Given the description of an element on the screen output the (x, y) to click on. 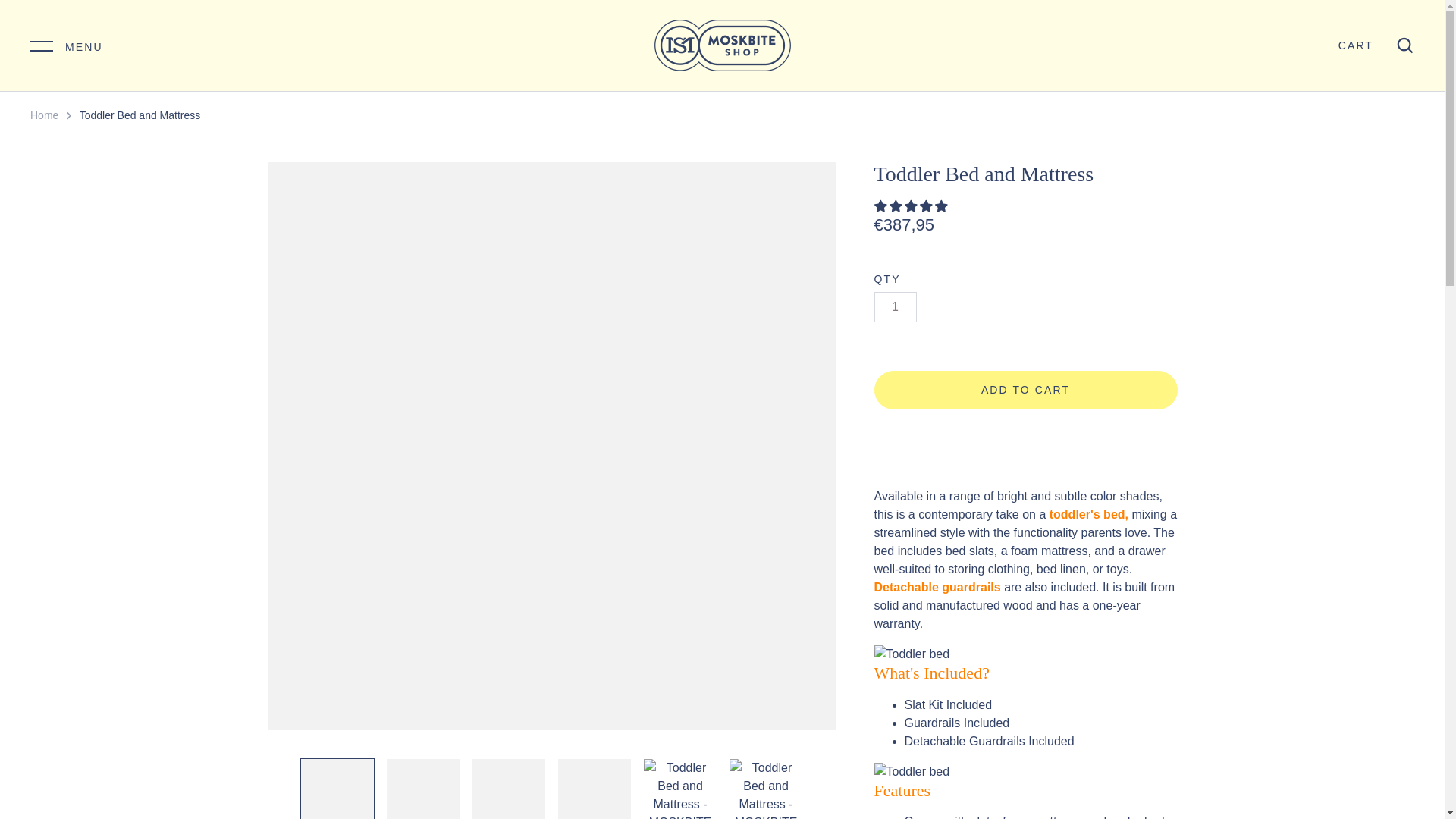
SEARCH (1404, 45)
Home (44, 114)
SEARCH (1404, 45)
Toddler Bed and Mattress - MOSKBITE (509, 788)
1 (894, 306)
CART (1355, 45)
Toddler Bed and Mattress - MOSKBITE (423, 788)
Toddler Bed and Mattress - MOSKBITE (337, 788)
MENU (66, 44)
